Given the description of an element on the screen output the (x, y) to click on. 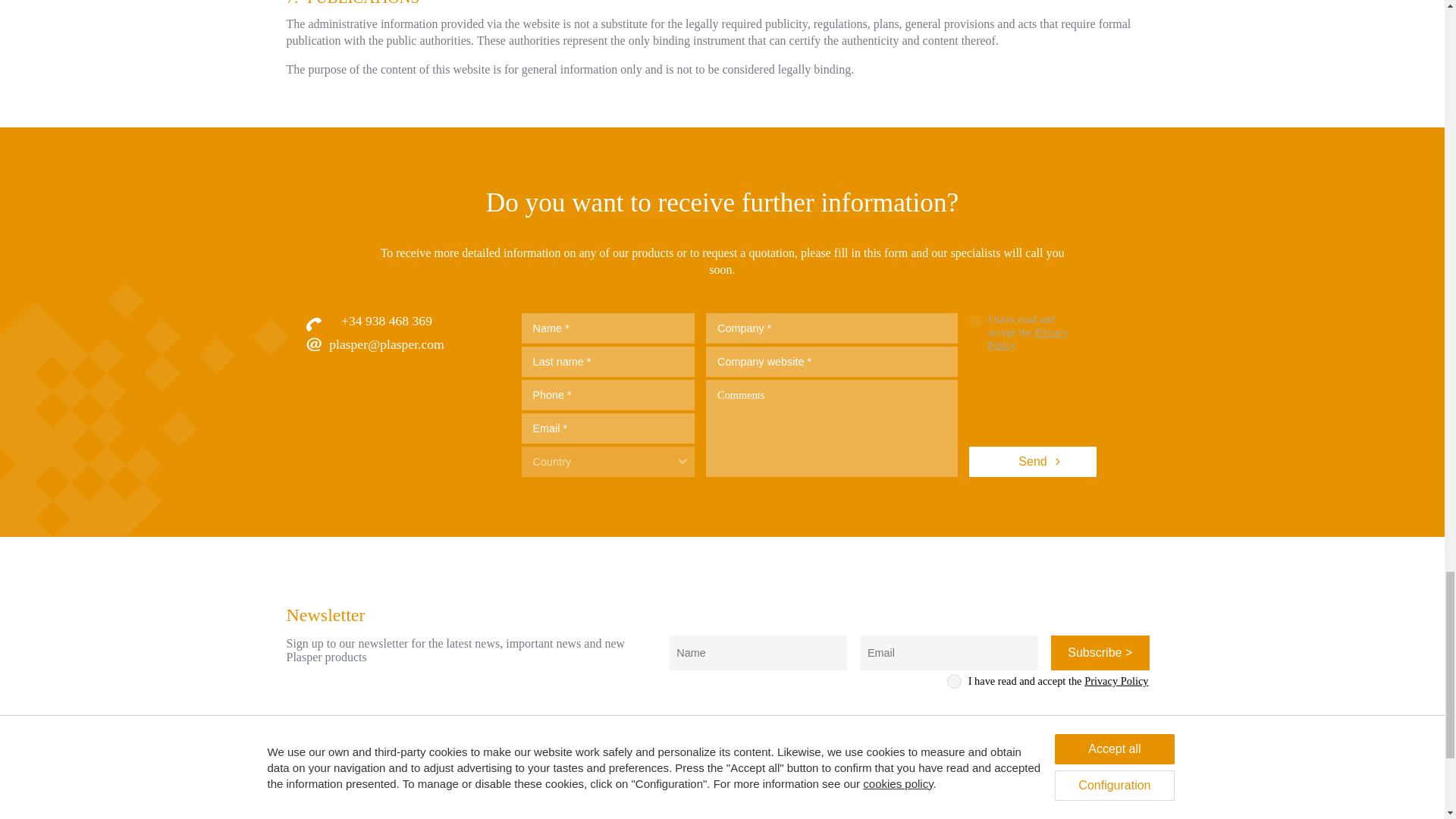
Masterbatches (722, 818)
Send (1033, 461)
Company (578, 800)
Privacy Policy (1116, 680)
Send (1033, 461)
Privacy Policy (1028, 338)
History (569, 818)
Products and services (746, 800)
